Given the description of an element on the screen output the (x, y) to click on. 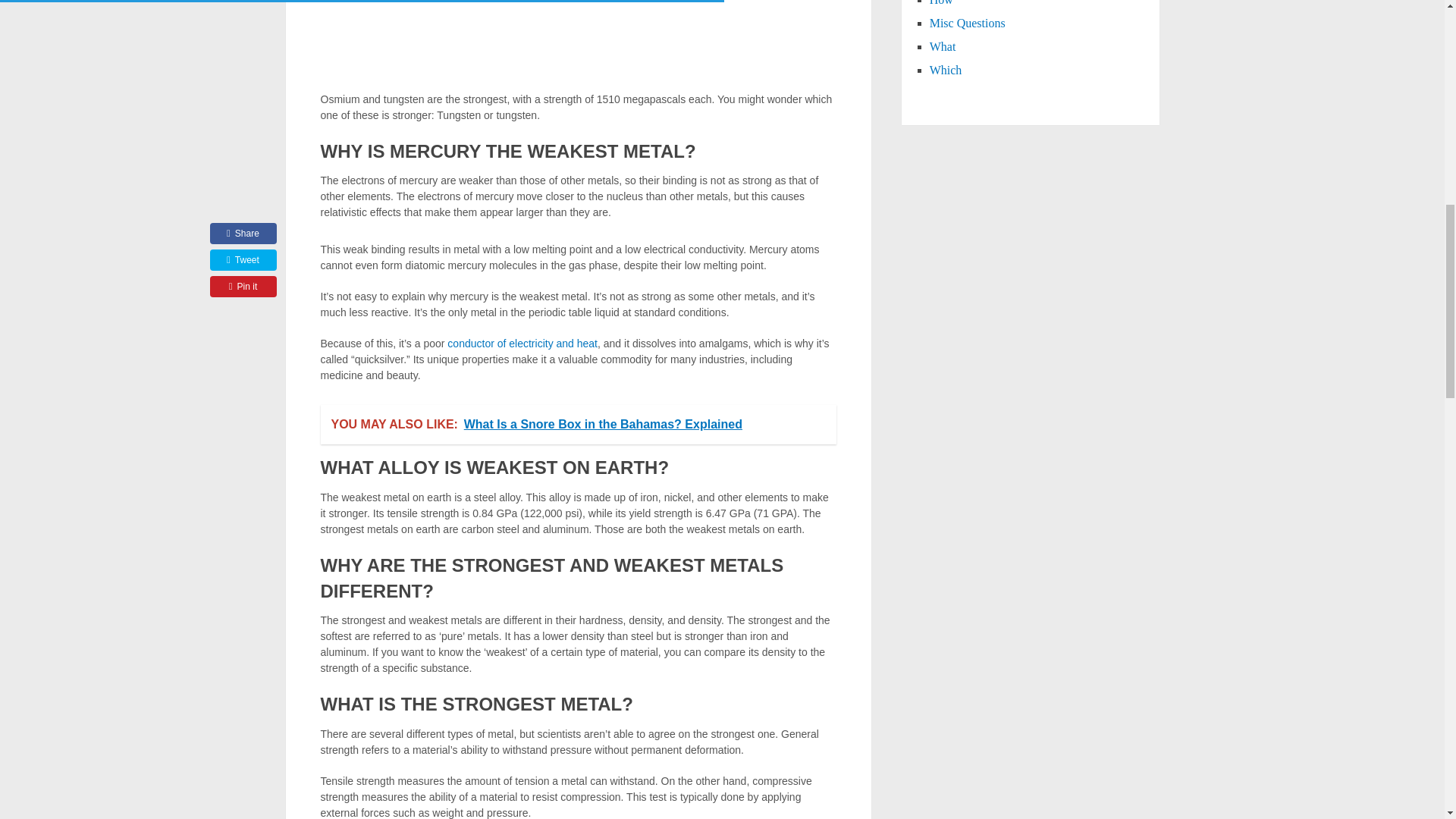
conductor of electricity and heat (521, 343)
Advertisement (577, 42)
